Given the description of an element on the screen output the (x, y) to click on. 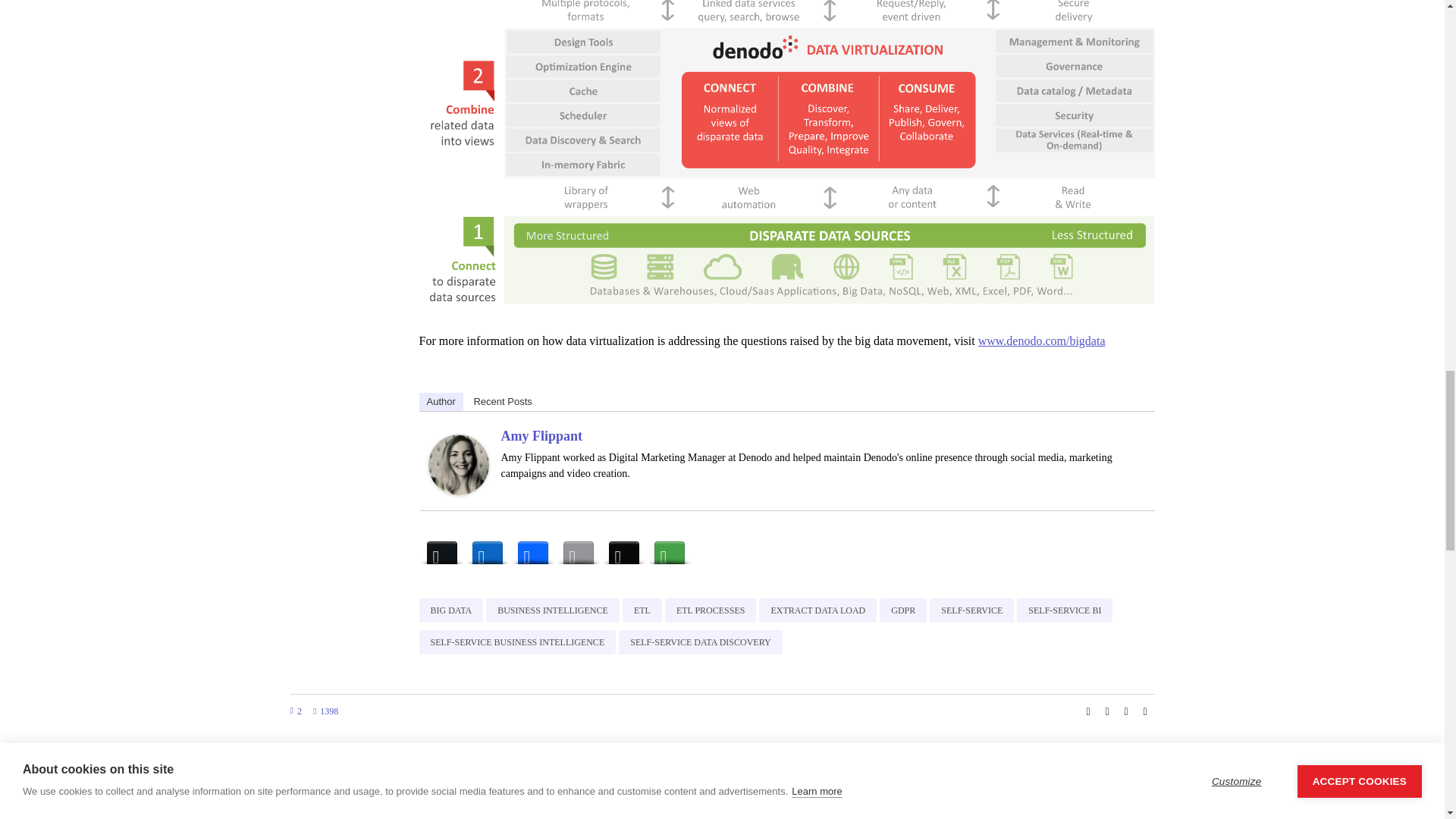
More Options (668, 548)
Facebook (531, 548)
Amy Flippant (457, 463)
Share this (1087, 711)
LinkedIn (486, 548)
Recent Posts (501, 402)
Share with Google Plus (1125, 711)
Digg (622, 548)
Tweet this (1106, 711)
Email This (576, 548)
Amy Flippant (541, 435)
Pin this (1144, 711)
Author (441, 402)
